Given the description of an element on the screen output the (x, y) to click on. 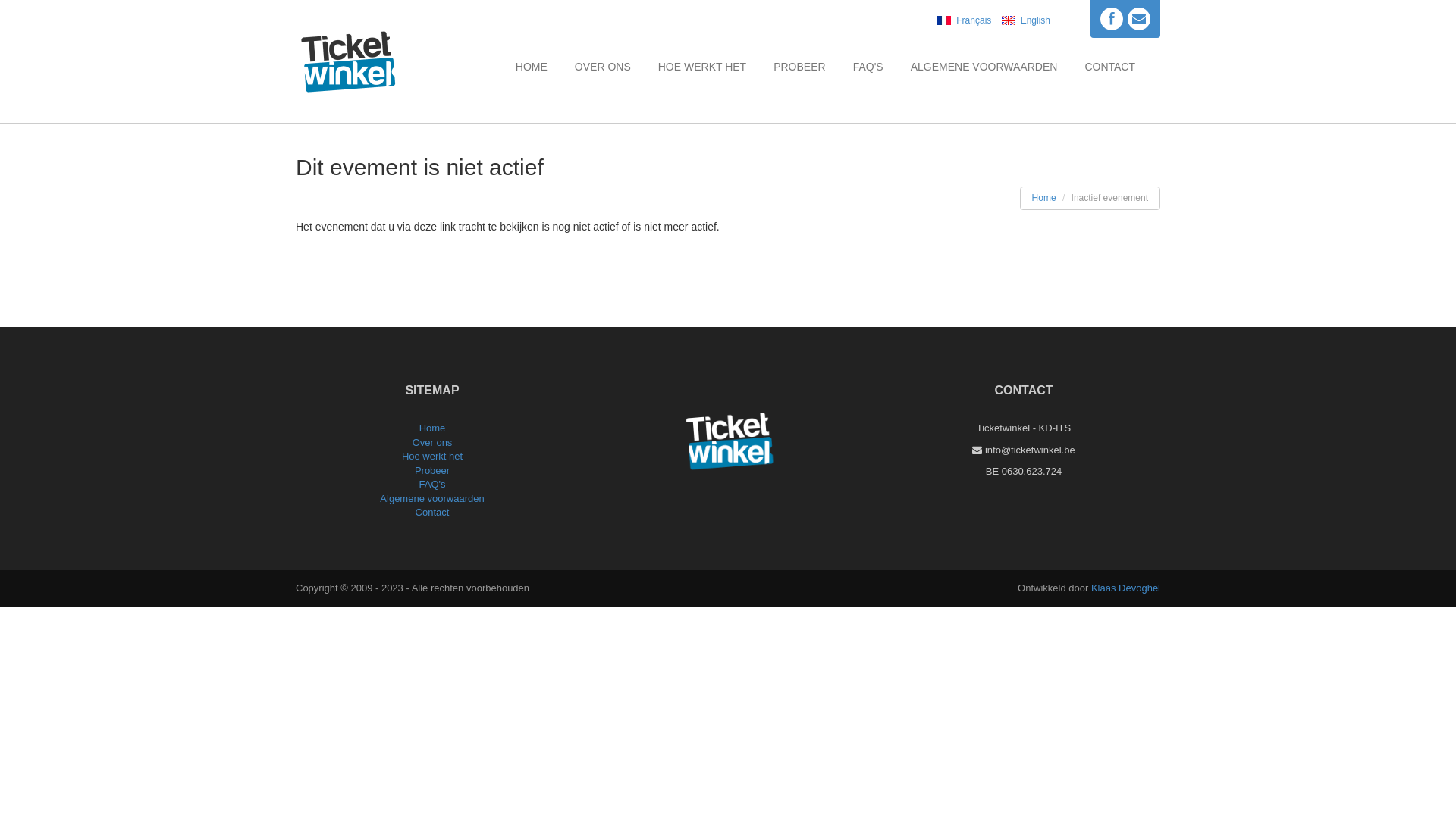
English Element type: text (1022, 20)
Home Element type: text (432, 427)
Contact Element type: text (432, 511)
Klaas Devoghel Element type: text (1125, 587)
CONTACT Element type: text (1109, 66)
PROBEER Element type: text (799, 66)
Algemene voorwaarden Element type: text (431, 498)
ALGEMENE VOORWAARDEN Element type: text (984, 66)
FAQ'S Element type: text (867, 66)
Home Element type: text (1044, 197)
OVER ONS Element type: text (602, 66)
HOE WERKT HET Element type: text (701, 66)
HOME Element type: text (531, 66)
FAQ's Element type: text (431, 483)
Hoe werkt het Element type: text (431, 455)
Over ons Element type: text (432, 442)
Probeer Element type: text (431, 470)
